Given the description of an element on the screen output the (x, y) to click on. 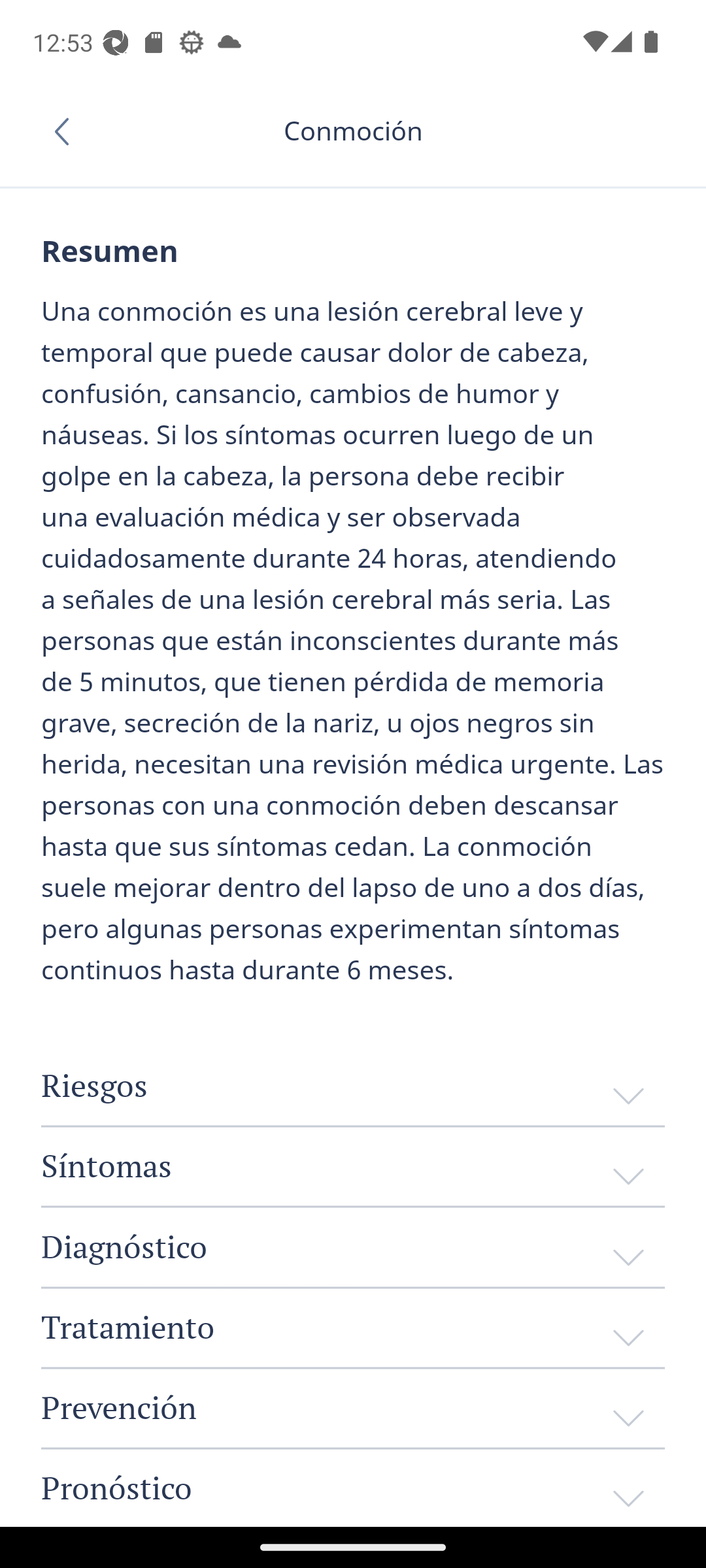
Go back, Navigates to the previous screen (68, 131)
Riesgos  (352, 1085)
Síntomas  (352, 1164)
Diagnóstico  (352, 1246)
Tratamiento  (352, 1326)
Prevención  (352, 1406)
Pronóstico  (352, 1487)
